Given the description of an element on the screen output the (x, y) to click on. 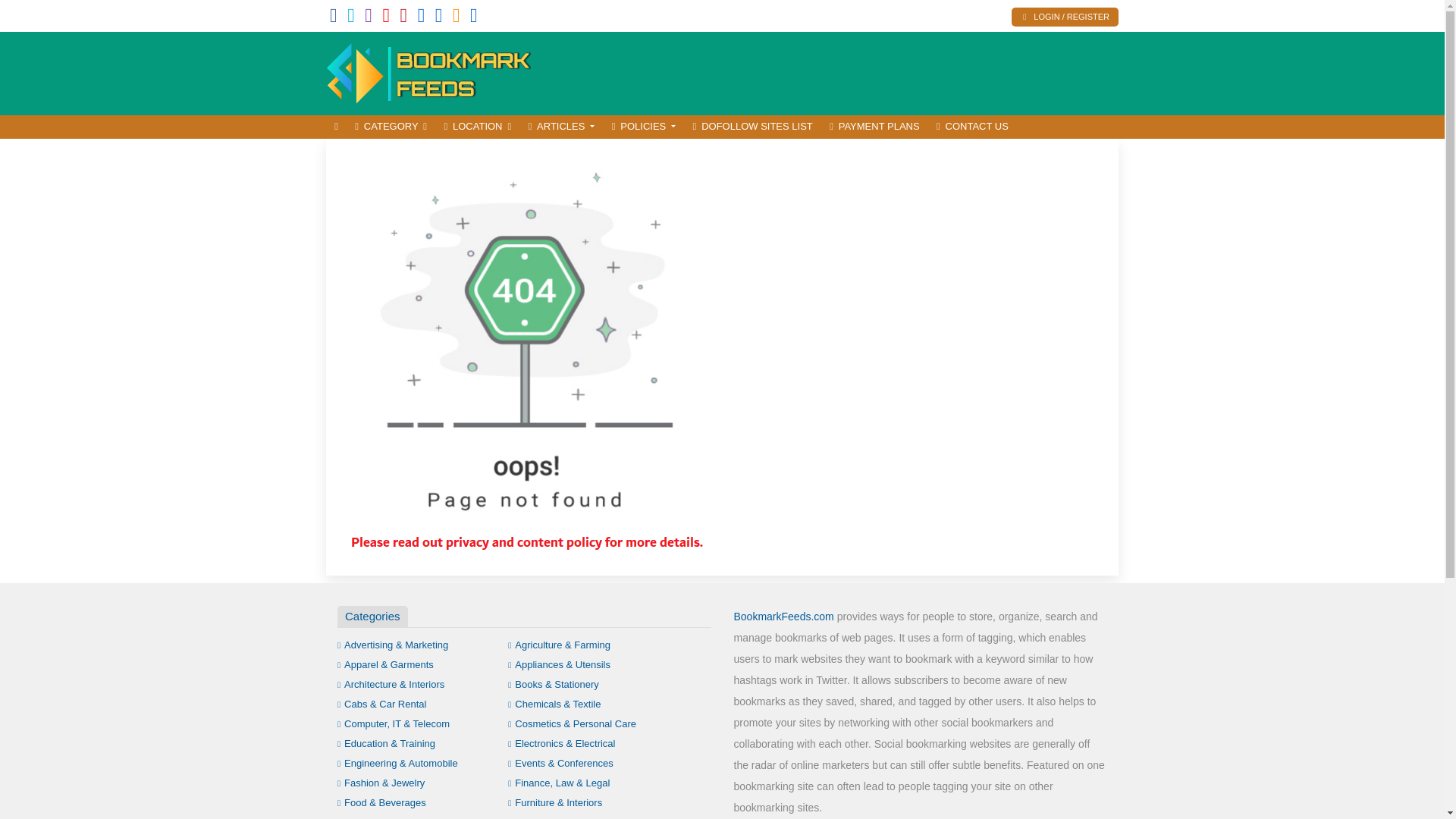
Global Bookmarking Service to Share Web Resources for SERP (428, 71)
CATEGORY (390, 126)
